Given the description of an element on the screen output the (x, y) to click on. 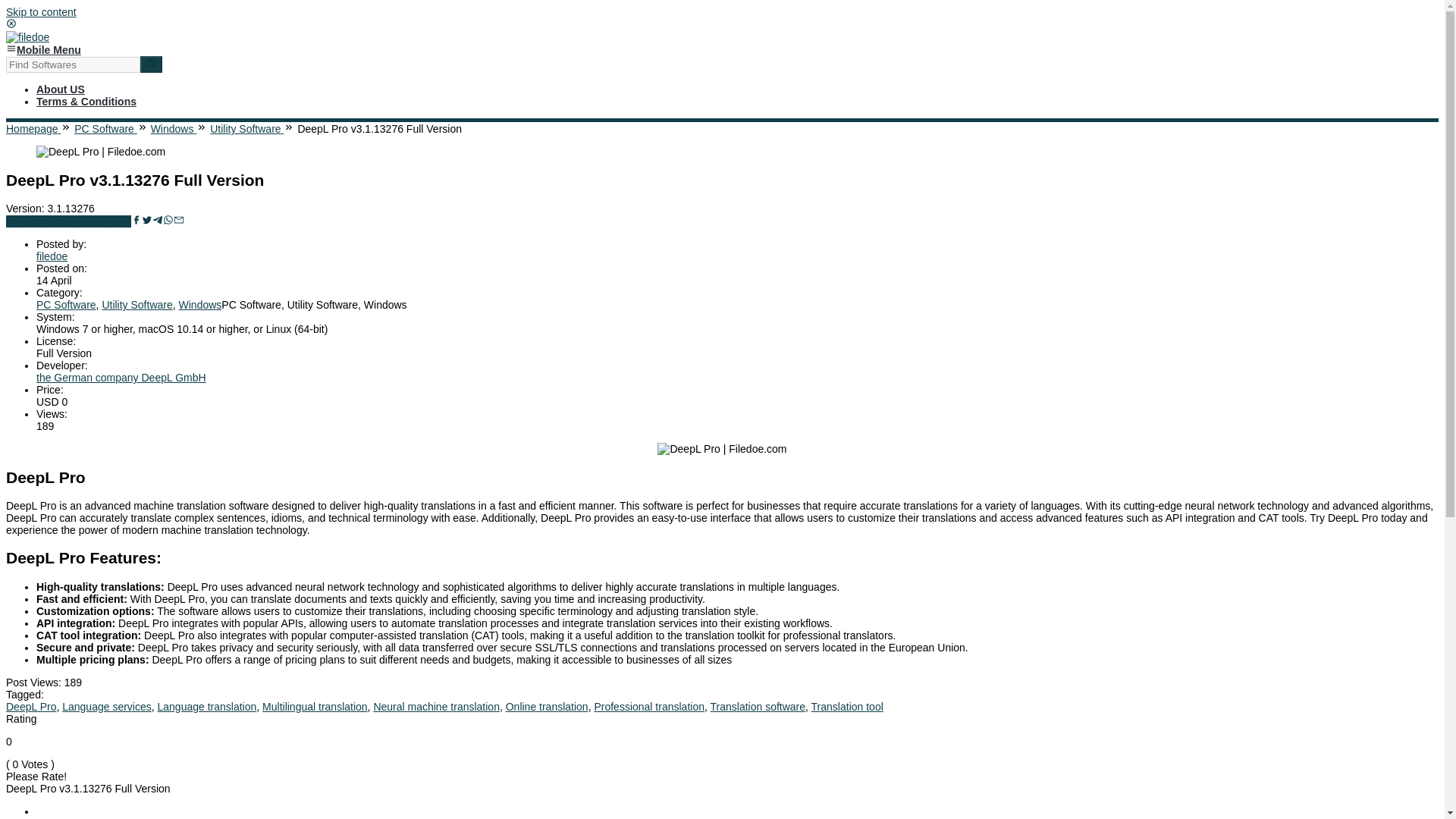
Utility Software (246, 128)
Language services (106, 706)
Translation tool (846, 706)
Homepage (33, 128)
filedoe (27, 37)
PC Software (105, 128)
Multilingual translation (315, 706)
Permalink to: filedoe (51, 256)
Utility Software (136, 304)
Download DeepL Pro v3.1.13276 Full Version (68, 221)
Windows (173, 128)
Language translation (207, 706)
PC Software (66, 304)
Online translation (546, 706)
Neural machine translation (435, 706)
